Given the description of an element on the screen output the (x, y) to click on. 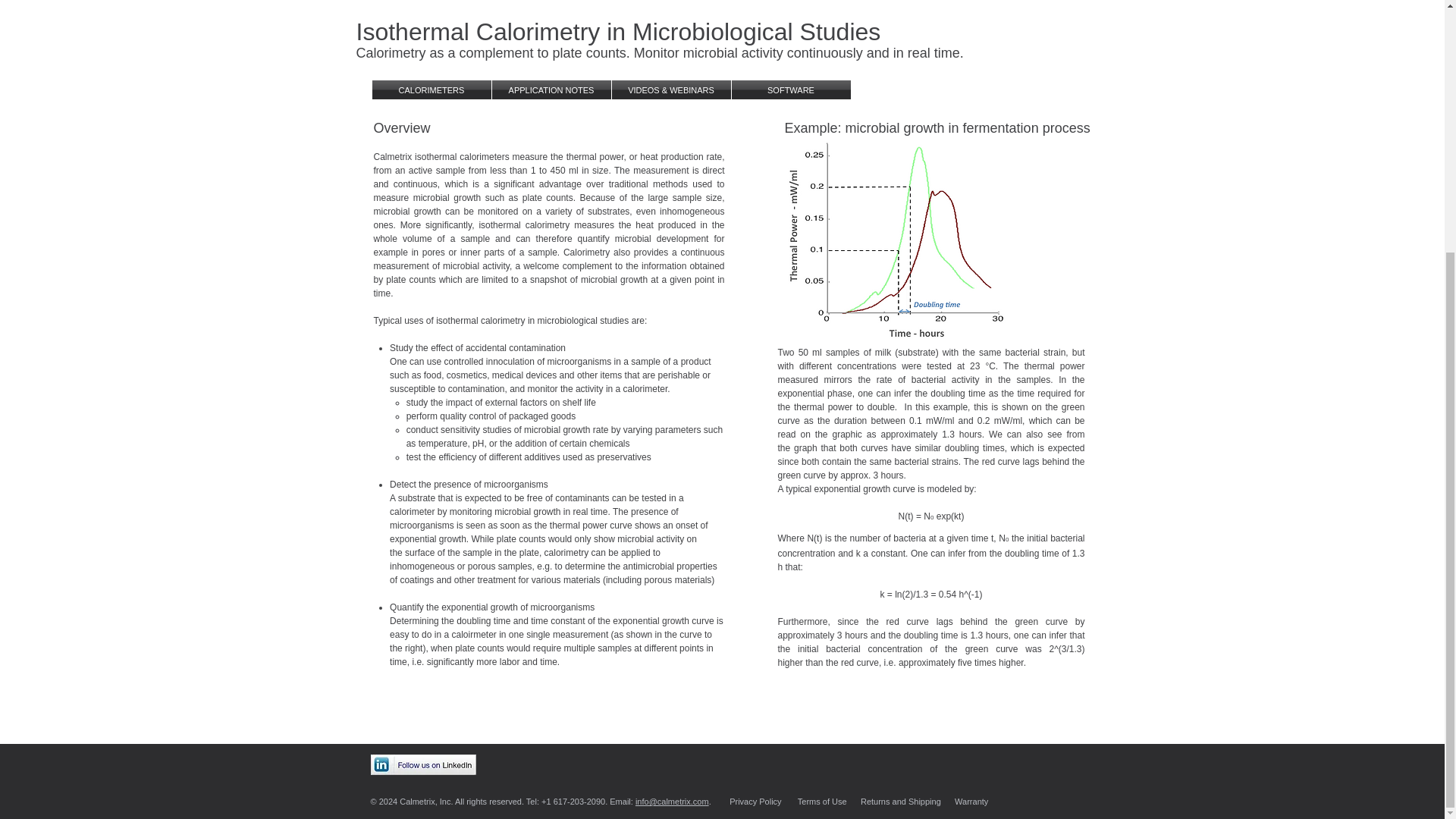
Slide1.png (909, 246)
CALORIMETERS (430, 89)
Warranty (971, 800)
Returns and Shipping (900, 800)
SOFTWARE (790, 89)
Privacy Policy (754, 800)
APPLICATION NOTES (551, 89)
Terms of Use (822, 800)
